Given the description of an element on the screen output the (x, y) to click on. 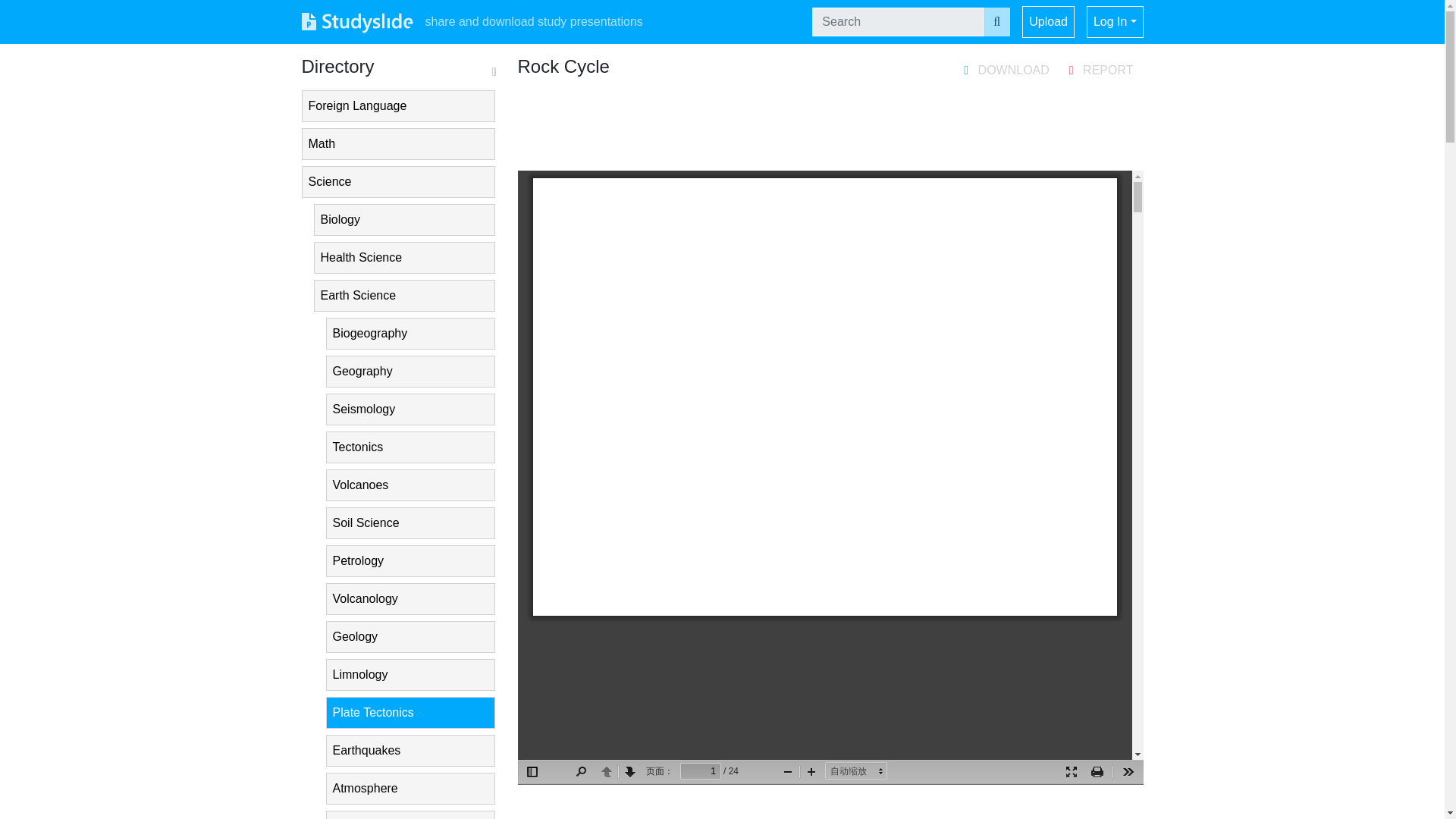
Advertisement (829, 124)
Foreign Language (398, 106)
Log In (1114, 21)
Upload (1048, 21)
